Given the description of an element on the screen output the (x, y) to click on. 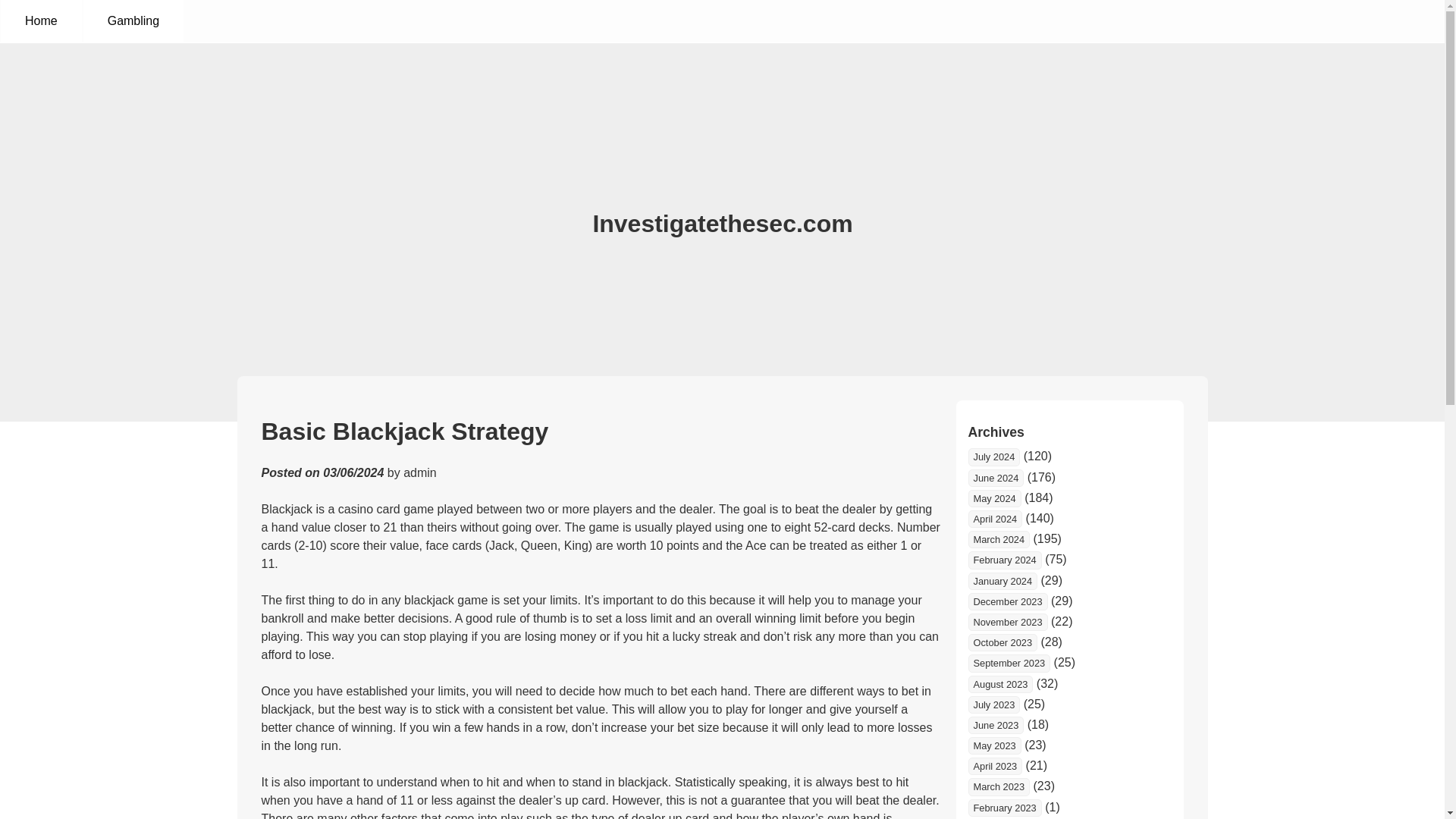
July 2024 (994, 456)
February 2023 (1004, 807)
April 2023 (995, 765)
July 2023 (994, 704)
Gambling (132, 21)
January 2024 (1002, 580)
June 2023 (995, 724)
September 2023 (1008, 662)
October 2023 (1002, 642)
April 2024 (995, 518)
November 2023 (1007, 621)
February 2024 (1004, 559)
March 2023 (998, 786)
December 2023 (1007, 601)
Home (41, 21)
